Given the description of an element on the screen output the (x, y) to click on. 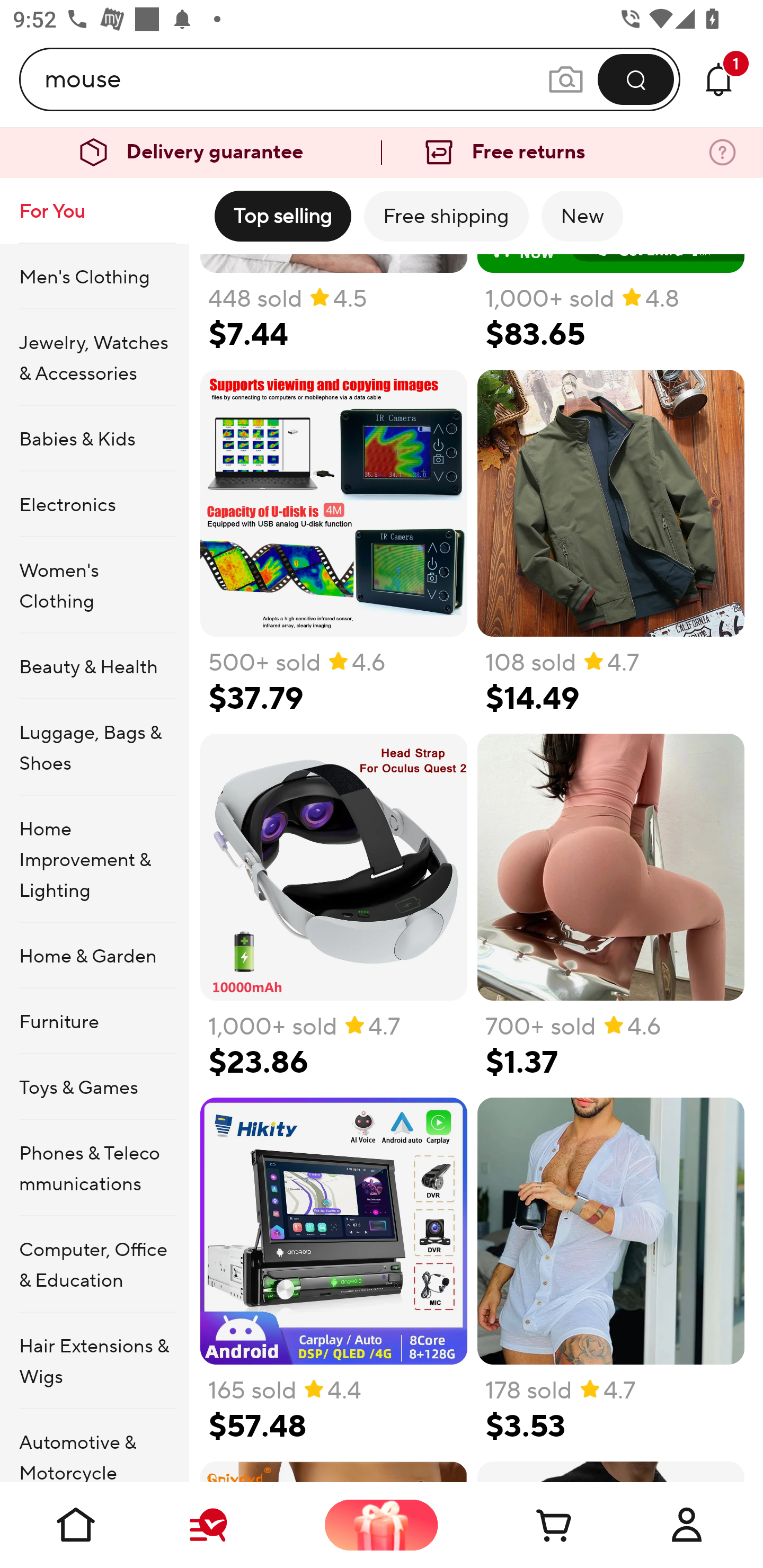
mouse Search query (295, 79)
Messages 1 (718, 79)
Delivery guarantee Free returns (381, 152)
For You (94, 210)
Top selling (282, 216)
Free shipping (445, 216)
New (582, 216)
Men's Clothing (94, 275)
Jewelry, Watches & Accessories (94, 357)
Babies & Kids (94, 438)
Electronics (94, 504)
Women's Clothing (94, 585)
Beauty & Health (94, 666)
Luggage, Bags & Shoes (94, 746)
Home Improvement & Lighting (94, 858)
Home & Garden (94, 955)
Furniture (94, 1020)
Toys & Games (94, 1086)
Phones & Telecommunications (94, 1167)
Computer, Office & Education (94, 1264)
Hair Extensions & Wigs (94, 1360)
Automotive & Motorcycle (94, 1445)
Home (76, 1524)
Cart (533, 1524)
Account (686, 1524)
